Given the description of an element on the screen output the (x, y) to click on. 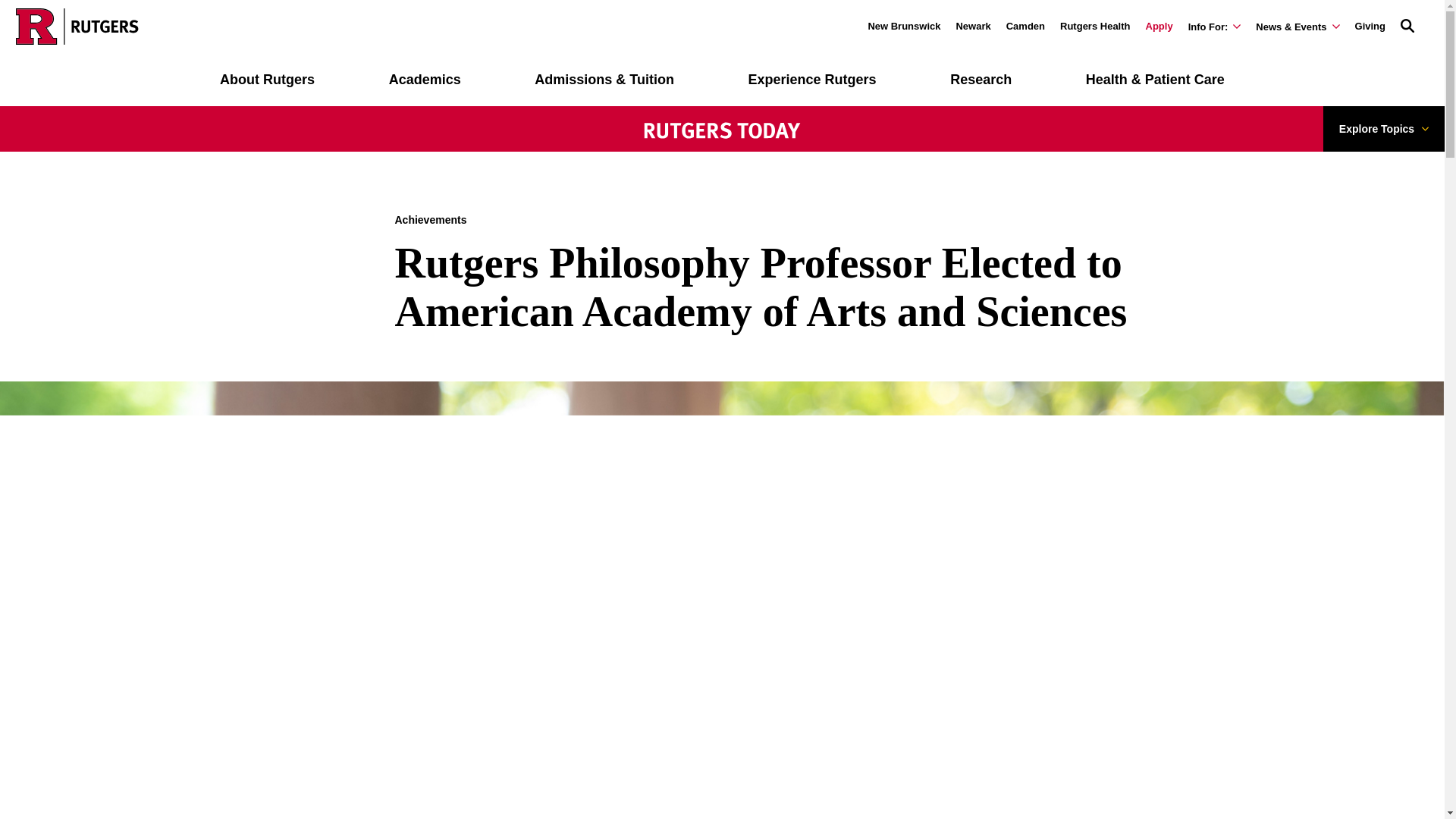
Info For: (1214, 26)
Newark (972, 26)
New Brunswick (903, 26)
Rutgers Health (1094, 26)
Camden (1025, 26)
Academics (424, 79)
About Rutgers (266, 79)
Giving (1370, 26)
Open Search (1406, 24)
